Given the description of an element on the screen output the (x, y) to click on. 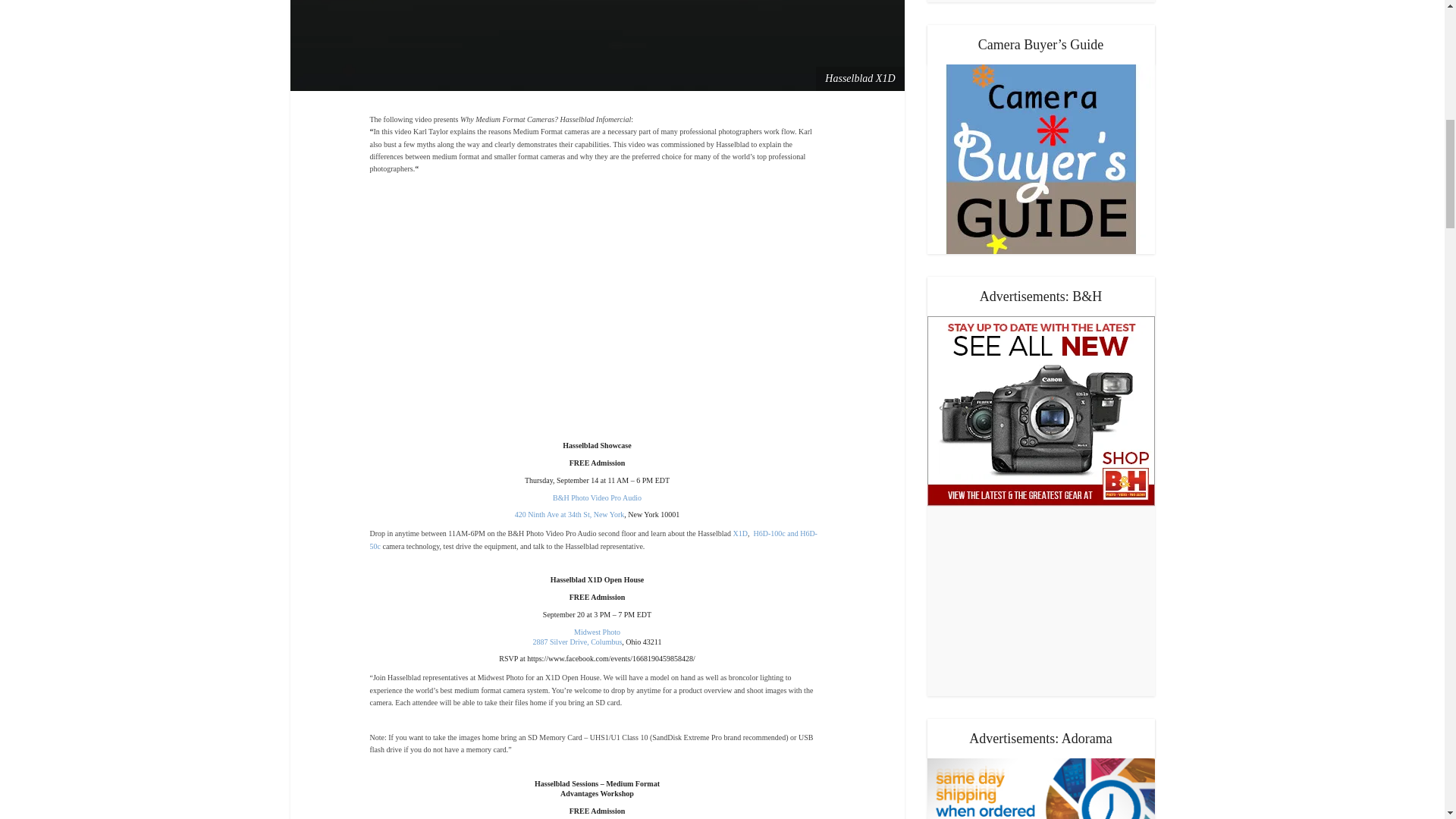
X1D (740, 533)
Midwest Photo (596, 632)
H6D-100c and H6D-50c (592, 539)
2887 Silver Drive, Columbus (577, 641)
420 Ninth Ave at 34th St, New York (569, 514)
